Given the description of an element on the screen output the (x, y) to click on. 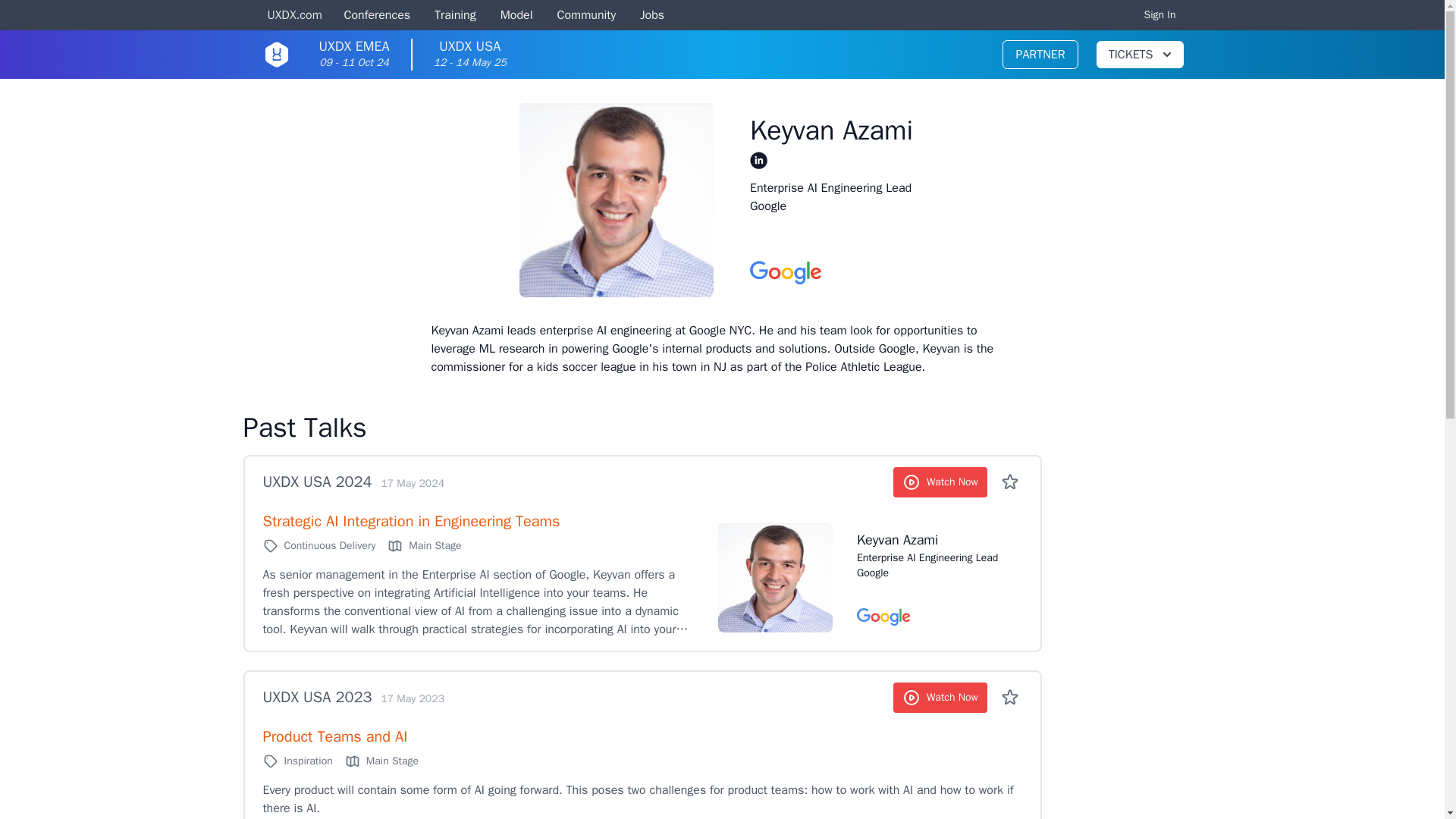
Keyvan Azami (930, 539)
Watch Now (470, 54)
Model (939, 697)
Training (516, 16)
Community (454, 16)
TICKETS (586, 16)
Watch Now (352, 54)
UXDX USA 2024 (1139, 53)
Sign In (939, 482)
Product Teams and AI (316, 481)
 Conferences (1160, 14)
PARTNER (334, 736)
UXDX.com (375, 16)
